Given the description of an element on the screen output the (x, y) to click on. 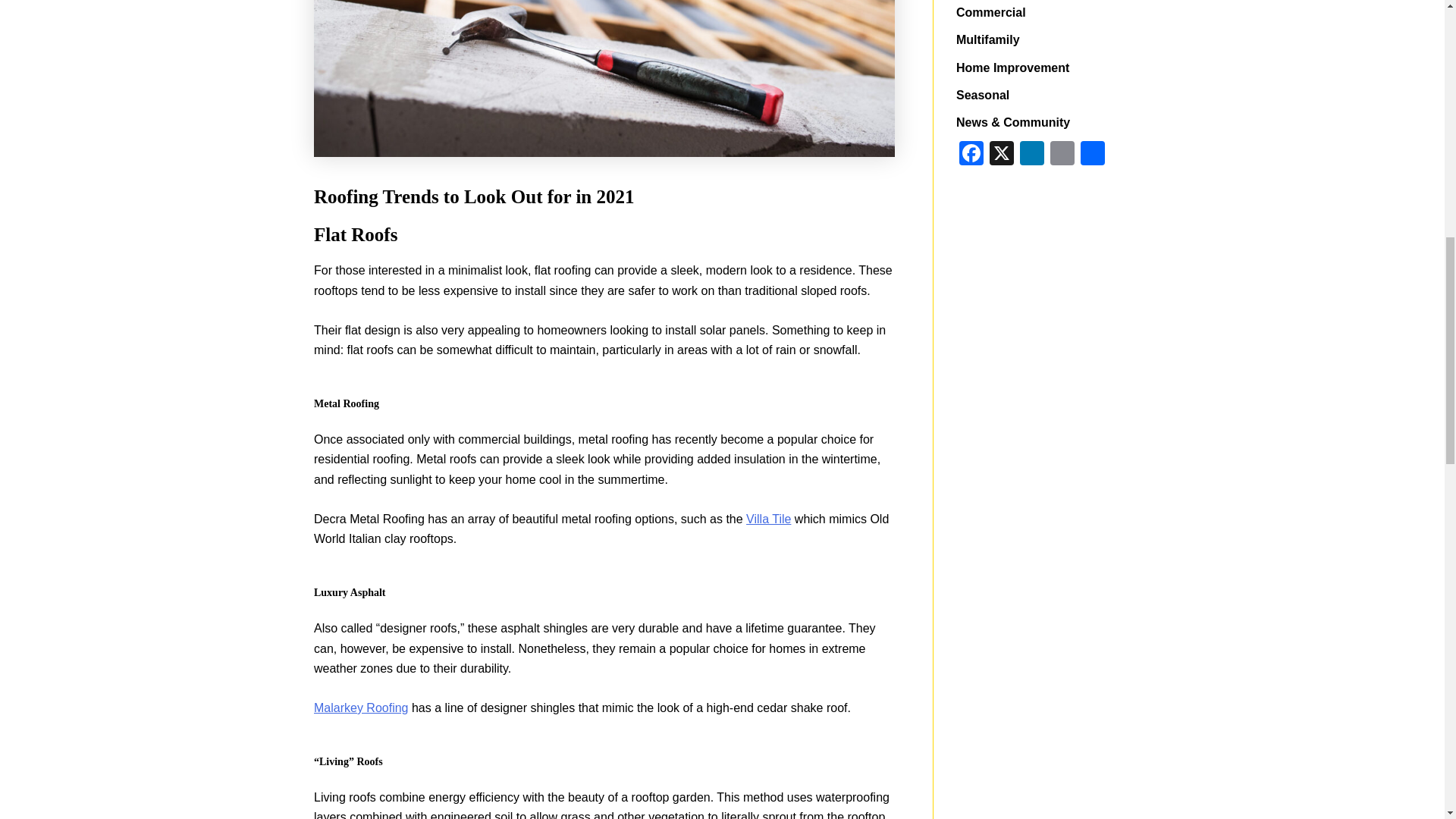
Email (1061, 154)
Facebook (971, 154)
X (1001, 154)
LinkedIn (1031, 154)
